Given the description of an element on the screen output the (x, y) to click on. 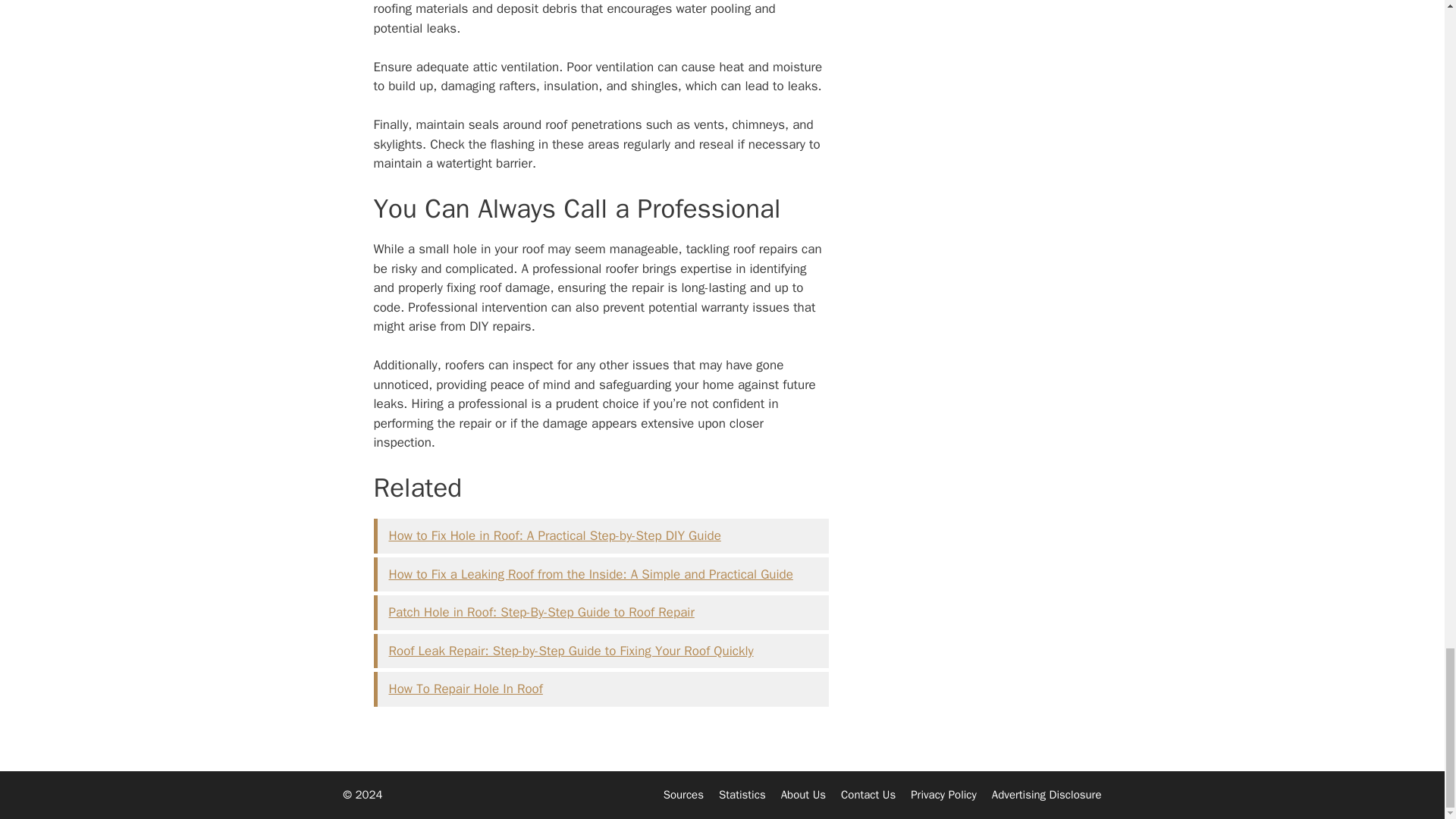
Sources (683, 794)
How to Fix Hole in Roof: A Practical Step-by-Step DIY Guide (554, 535)
Statistics (742, 794)
Patch Hole in Roof: Step-By-Step Guide to Roof Repair (541, 611)
How To Repair Hole In Roof (464, 688)
How To Repair Hole In Roof (464, 688)
About Us (802, 794)
Patch Hole in Roof: Step-By-Step Guide to Roof Repair (541, 611)
Advertising Disclosure (1046, 794)
How to Fix Hole in Roof: A Practical Step-by-Step DIY Guide (554, 535)
Contact Us (868, 794)
